Given the description of an element on the screen output the (x, y) to click on. 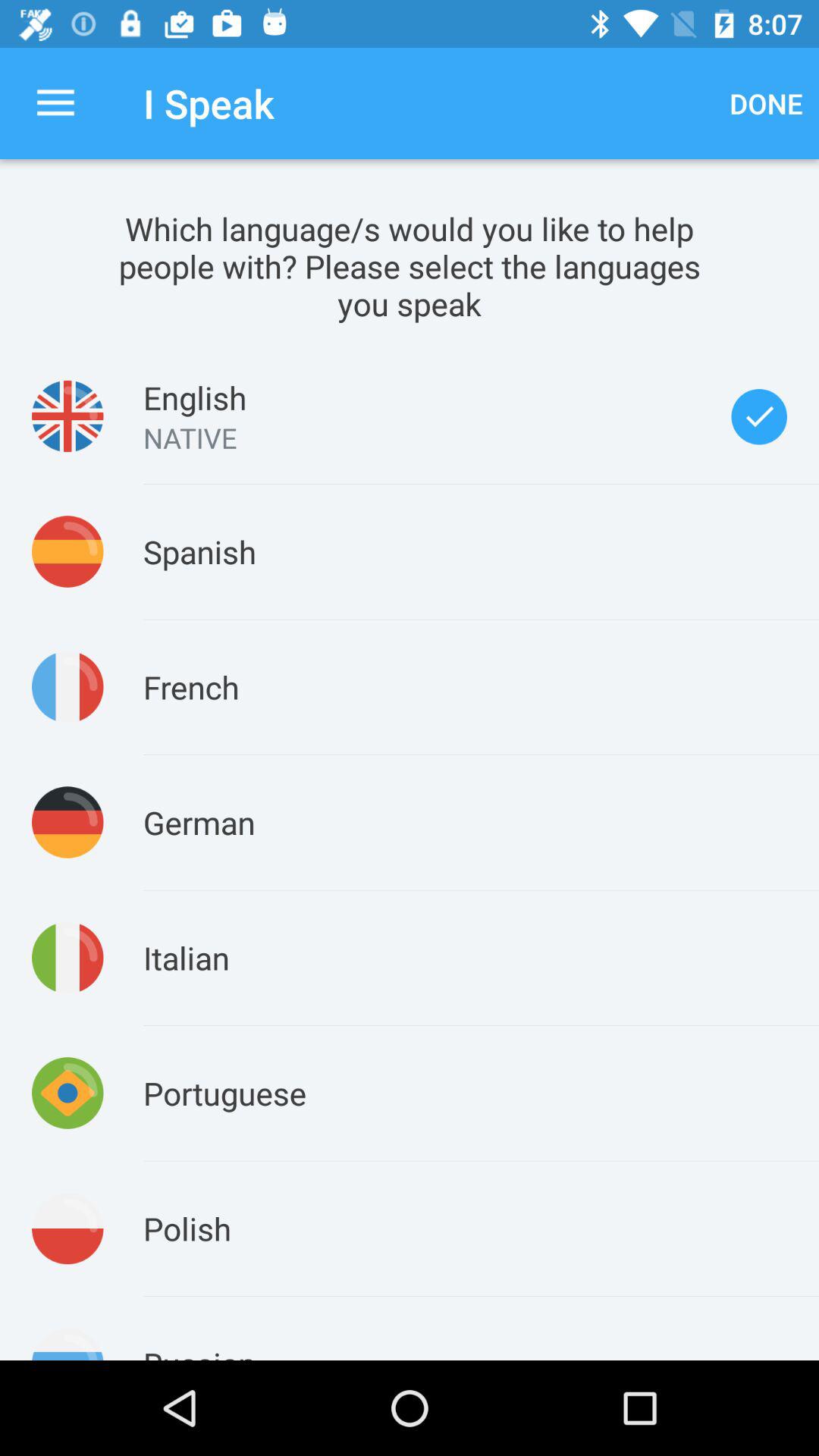
turn off the item next to the i speak item (55, 103)
